Given the description of an element on the screen output the (x, y) to click on. 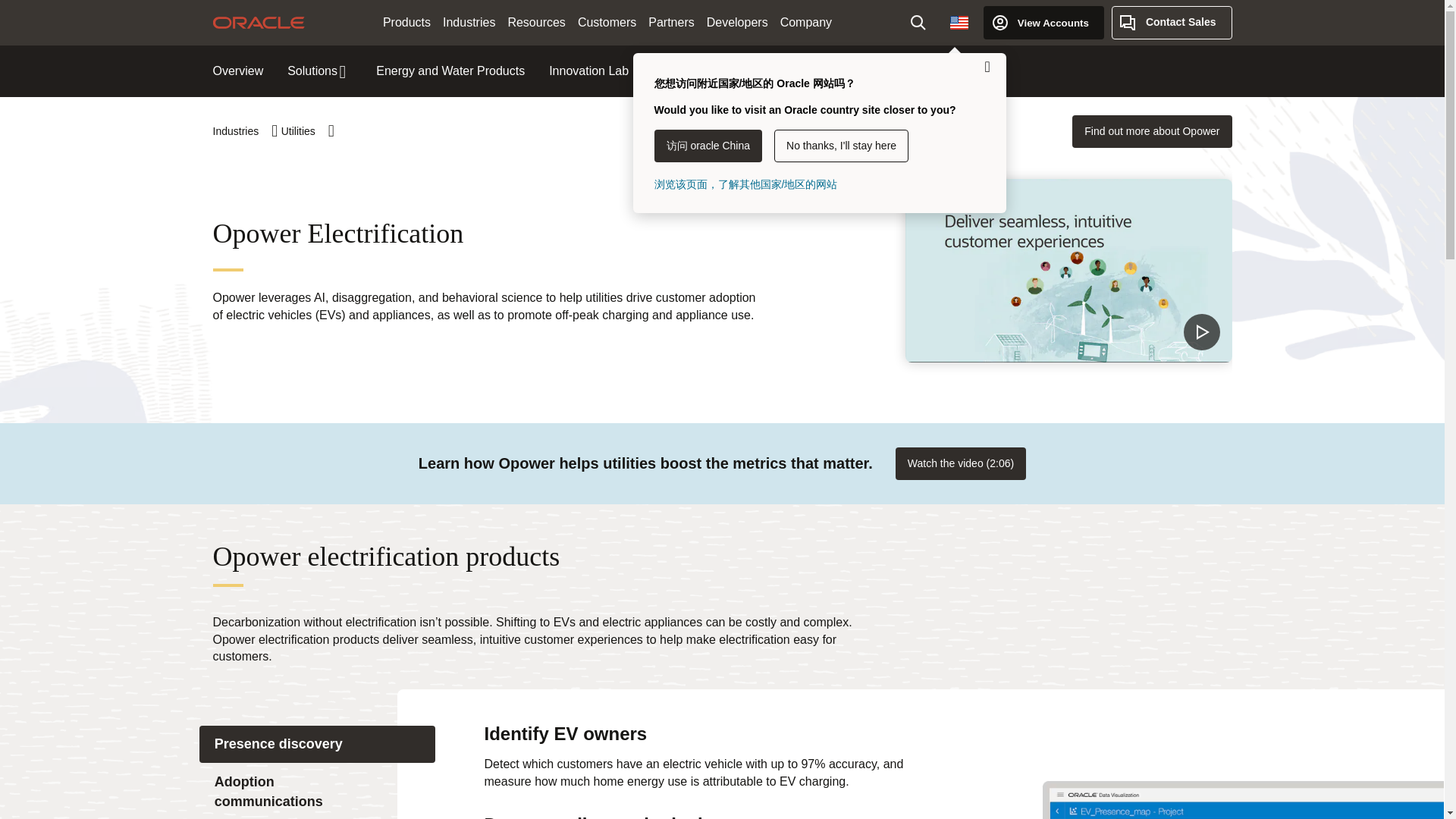
Products (406, 22)
Overview (237, 71)
Contact Sales (1171, 22)
Contact Sales (1171, 22)
Country (958, 22)
Customers (607, 22)
Company (806, 22)
Developers (737, 22)
View Accounts (1043, 22)
Get more info about Opower (1151, 131)
